Given the description of an element on the screen output the (x, y) to click on. 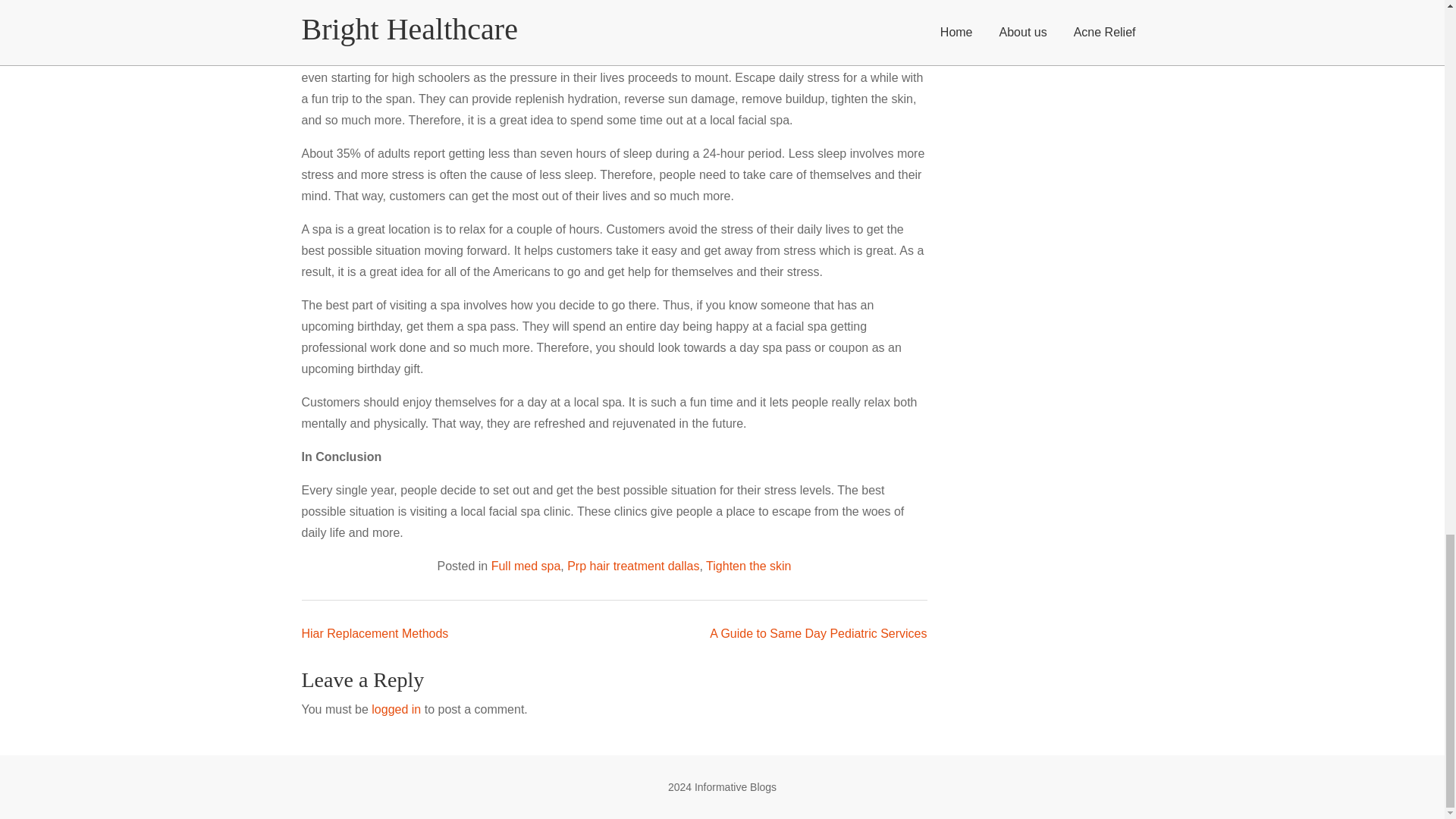
Saturday (89, 653)
Tuesday (29, 653)
Monday (14, 653)
medical spa (515, 4)
Thursday (59, 653)
15 (14, 703)
Full med spa (84, 317)
logged in (92, 453)
Sunday (105, 653)
23 (28, 719)
